Given the description of an element on the screen output the (x, y) to click on. 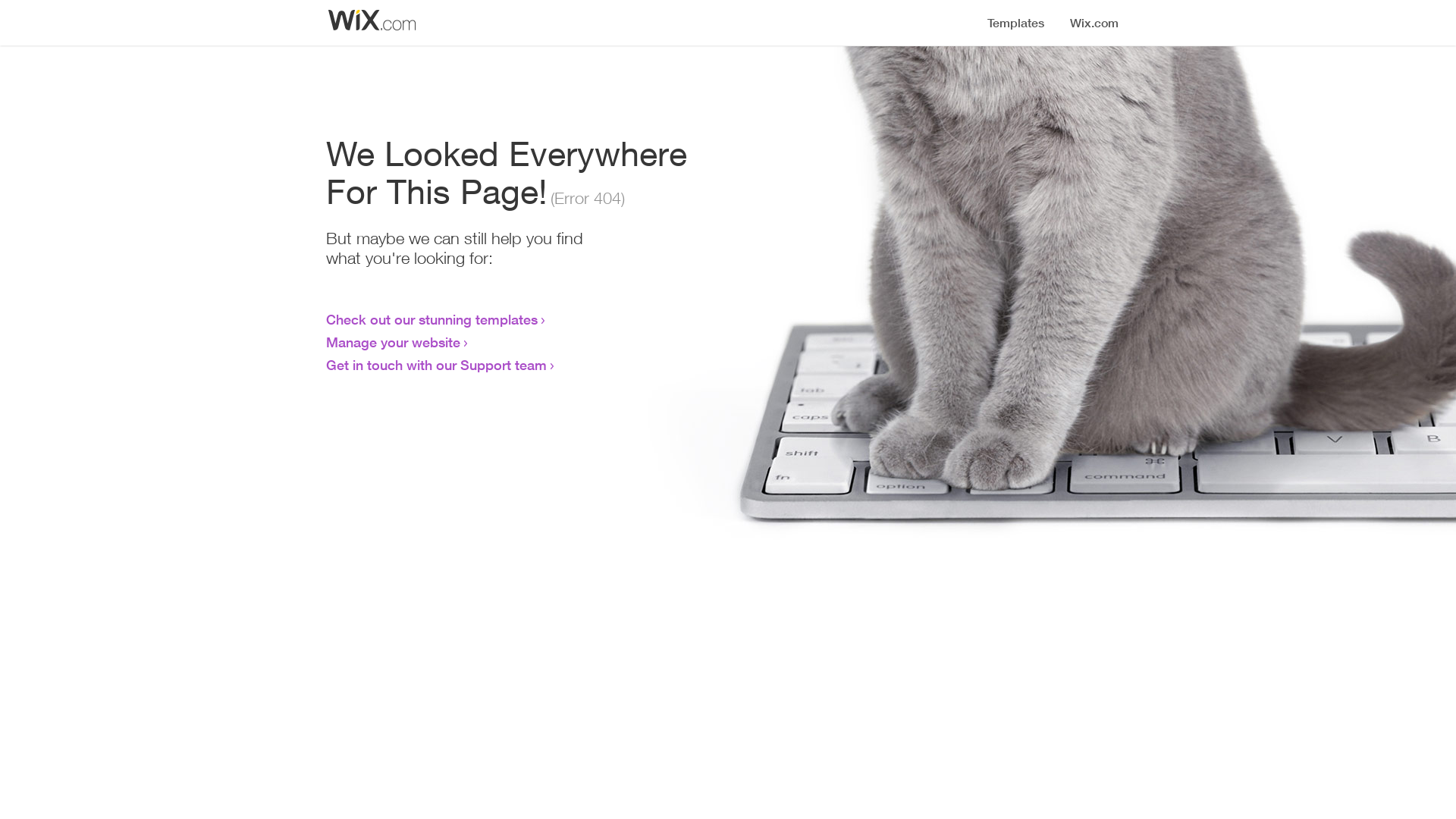
Check out our stunning templates Element type: text (431, 318)
Manage your website Element type: text (393, 341)
Get in touch with our Support team Element type: text (436, 364)
